Given the description of an element on the screen output the (x, y) to click on. 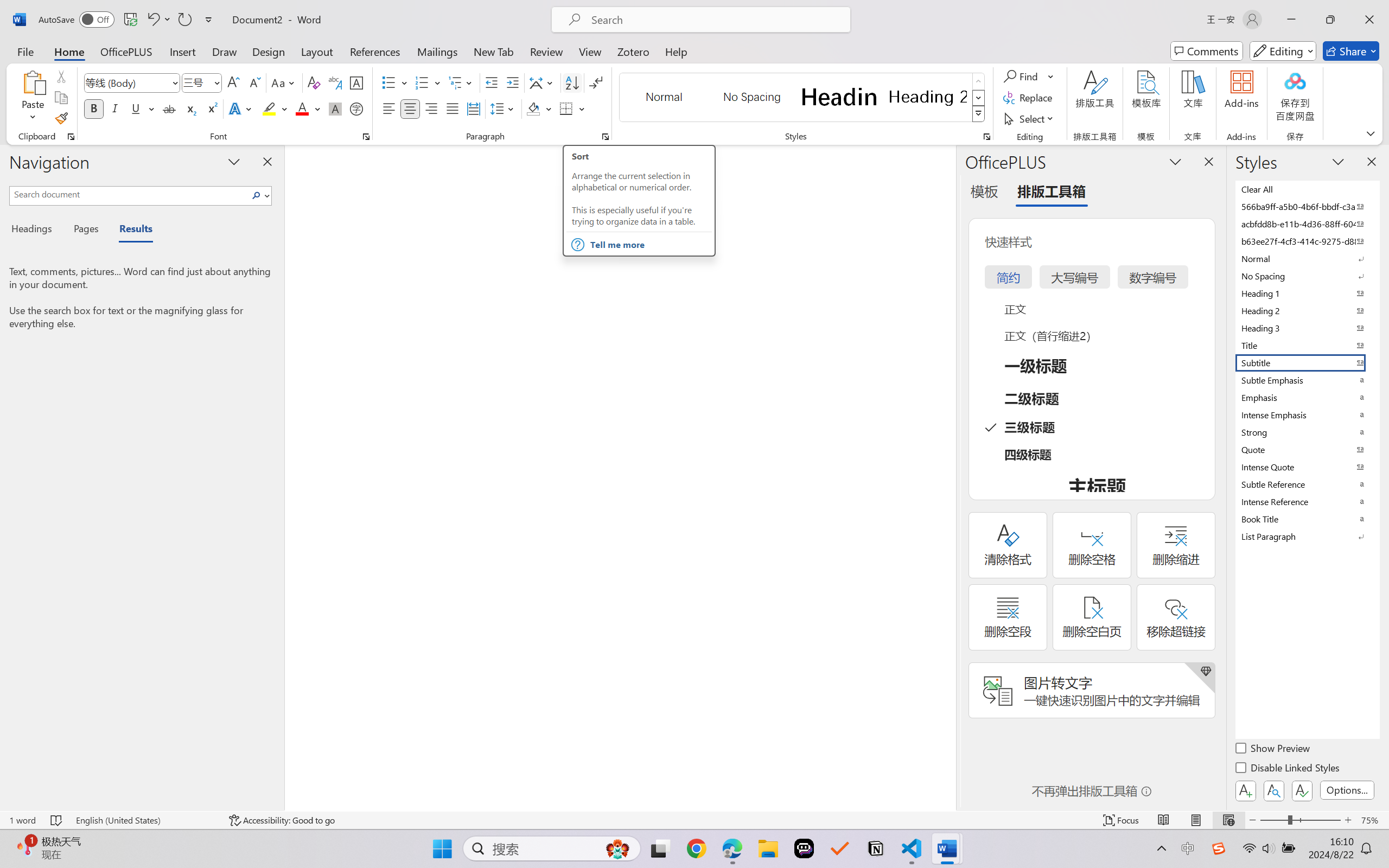
Accounts (13, 787)
Views and More Actions... (1347, 640)
UTF-8 (1250, 836)
Explorer Section: windows_crawler (94, 48)
Edit (48, 10)
Use Regular Expression (Alt+R) (1206, 65)
Outline Section (94, 810)
del.py (326, 31)
Problems (Ctrl+Shift+M) (190, 640)
Maximize Panel Size (1362, 639)
